Given the description of an element on the screen output the (x, y) to click on. 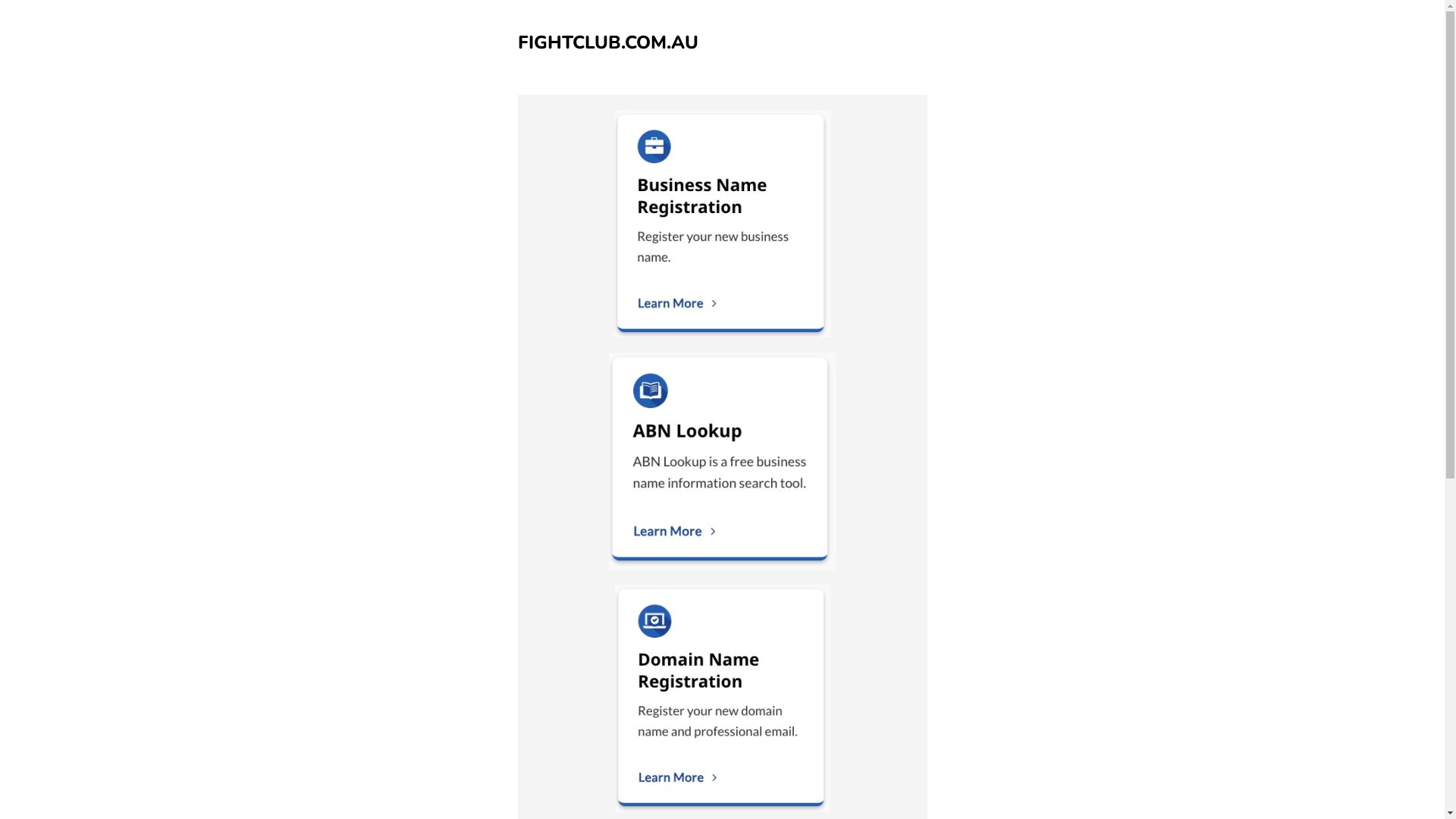
FIGHTCLUB.COM.AU Element type: text (607, 42)
